Given the description of an element on the screen output the (x, y) to click on. 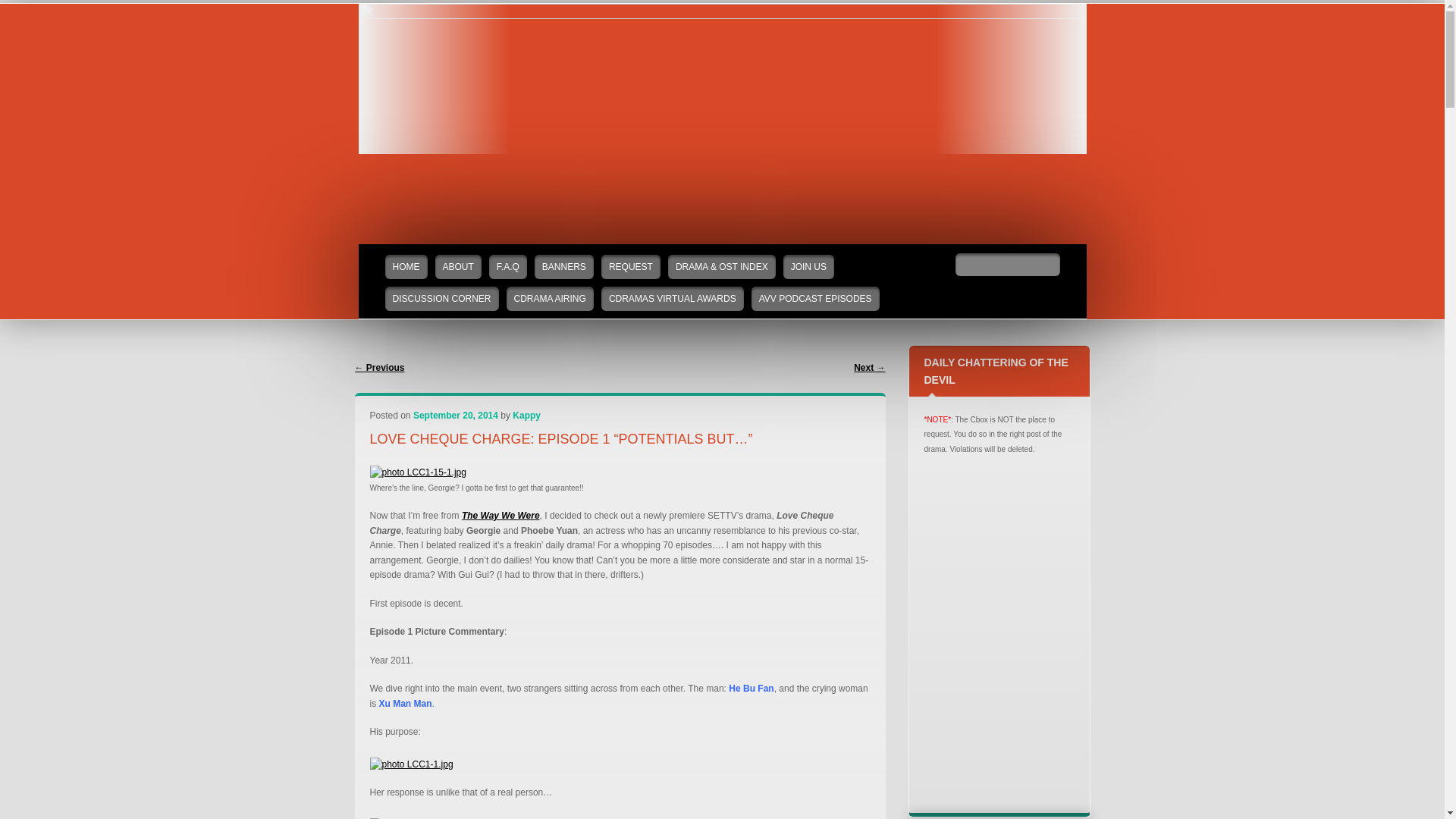
5:55 pm (455, 415)
DISCUSSION CORNER (442, 298)
F.A.Q (508, 266)
Skip to primary content (404, 251)
Skip to secondary content (410, 251)
REQUEST (631, 266)
ABOUT (458, 266)
BANNERS (564, 266)
HOME (406, 266)
View all posts by Kappy (526, 415)
